Given the description of an element on the screen output the (x, y) to click on. 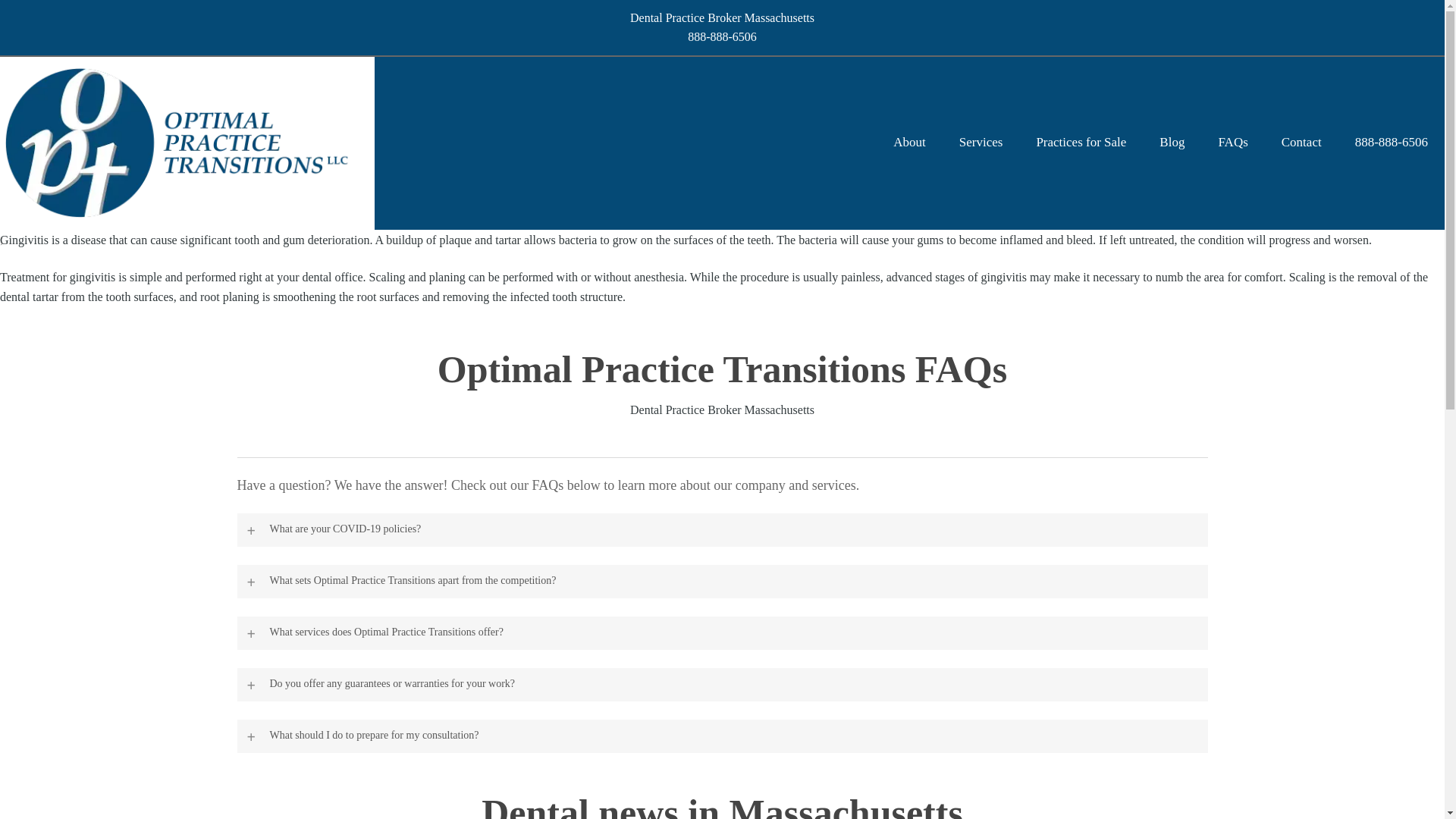
Do you offer any guarantees or warranties for your work? (721, 684)
What should I do to prepare for my consultation? (721, 735)
888-888-6506 (1391, 142)
888-888-6506 (722, 36)
FAQs (1232, 142)
Blog (1171, 142)
What are your COVID-19 policies? (721, 530)
Services (981, 142)
What services does Optimal Practice Transitions offer? (721, 633)
About (909, 142)
Practices for Sale (1080, 142)
Contact (1301, 142)
